Given the description of an element on the screen output the (x, y) to click on. 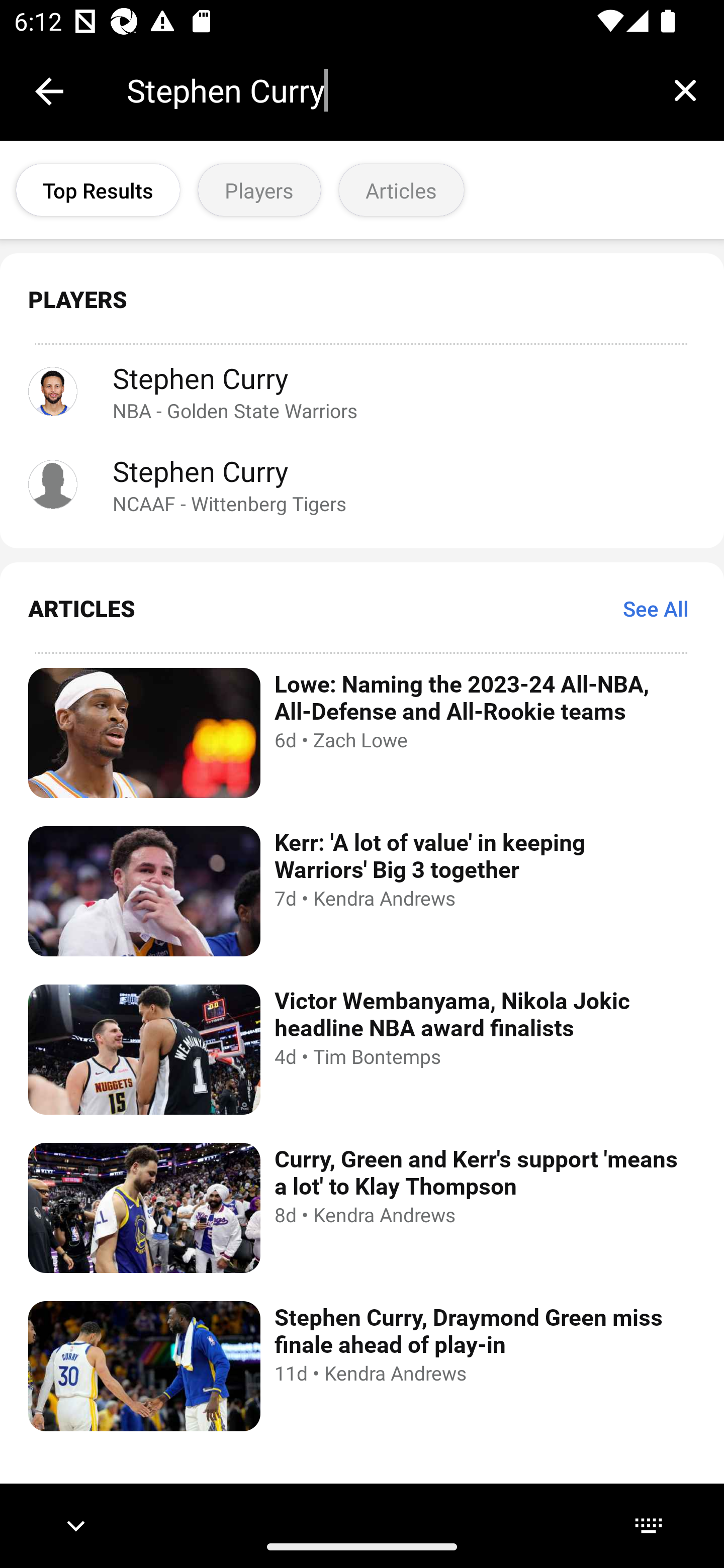
Collapse (49, 91)
Clear query (685, 89)
Stephen Curry (386, 90)
Top Results (97, 190)
Players (259, 190)
Articles (401, 190)
See All (655, 608)
